Given the description of an element on the screen output the (x, y) to click on. 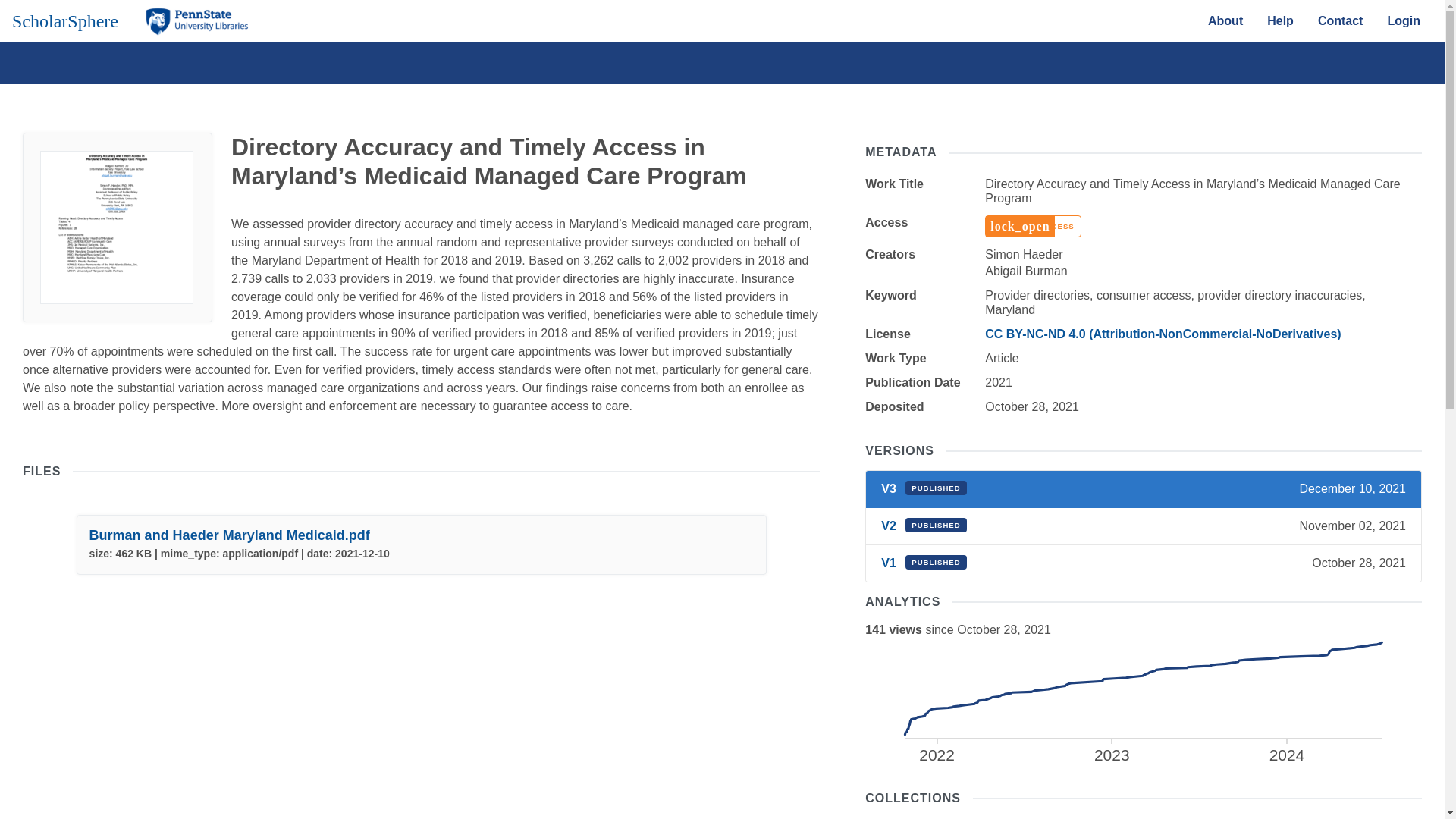
Burman and Haeder Maryland Medicaid.pdf (228, 534)
V3 PUBLISHED (1142, 702)
Login (923, 488)
V2 PUBLISHED (1403, 20)
Contact (923, 525)
ScholarSphere (1340, 20)
V1 PUBLISHED (64, 20)
About (923, 562)
Help (1225, 20)
Download Burman and Haeder Maryland Medicaid.pdf (1280, 20)
